Given the description of an element on the screen output the (x, y) to click on. 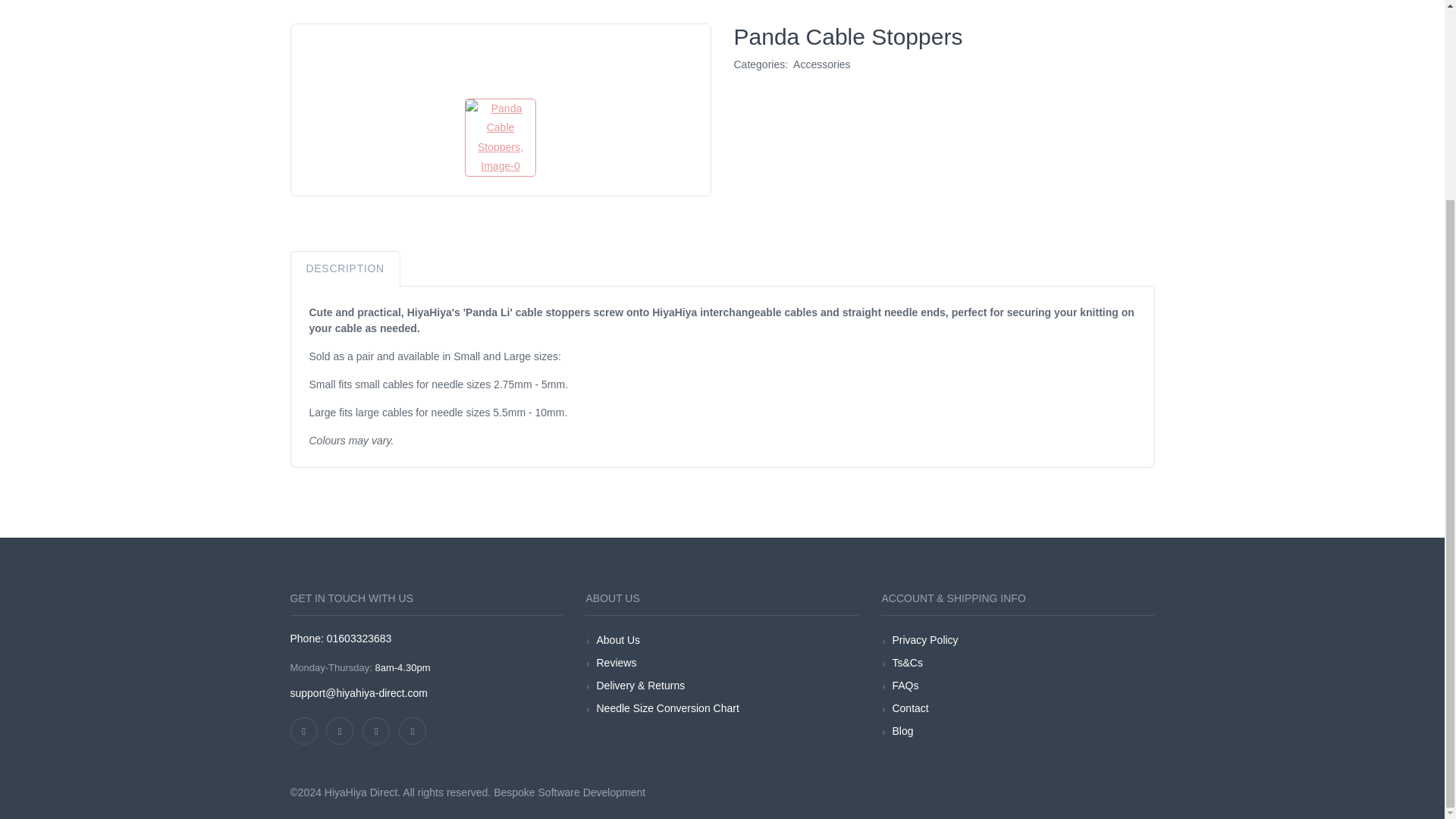
Accessories (821, 64)
About Us (617, 640)
Link to Needle Size Conversion Chart (666, 708)
DESCRIPTION (343, 268)
Link to About Us (617, 640)
Reviews (615, 662)
Link to Reviews (615, 662)
